Given the description of an element on the screen output the (x, y) to click on. 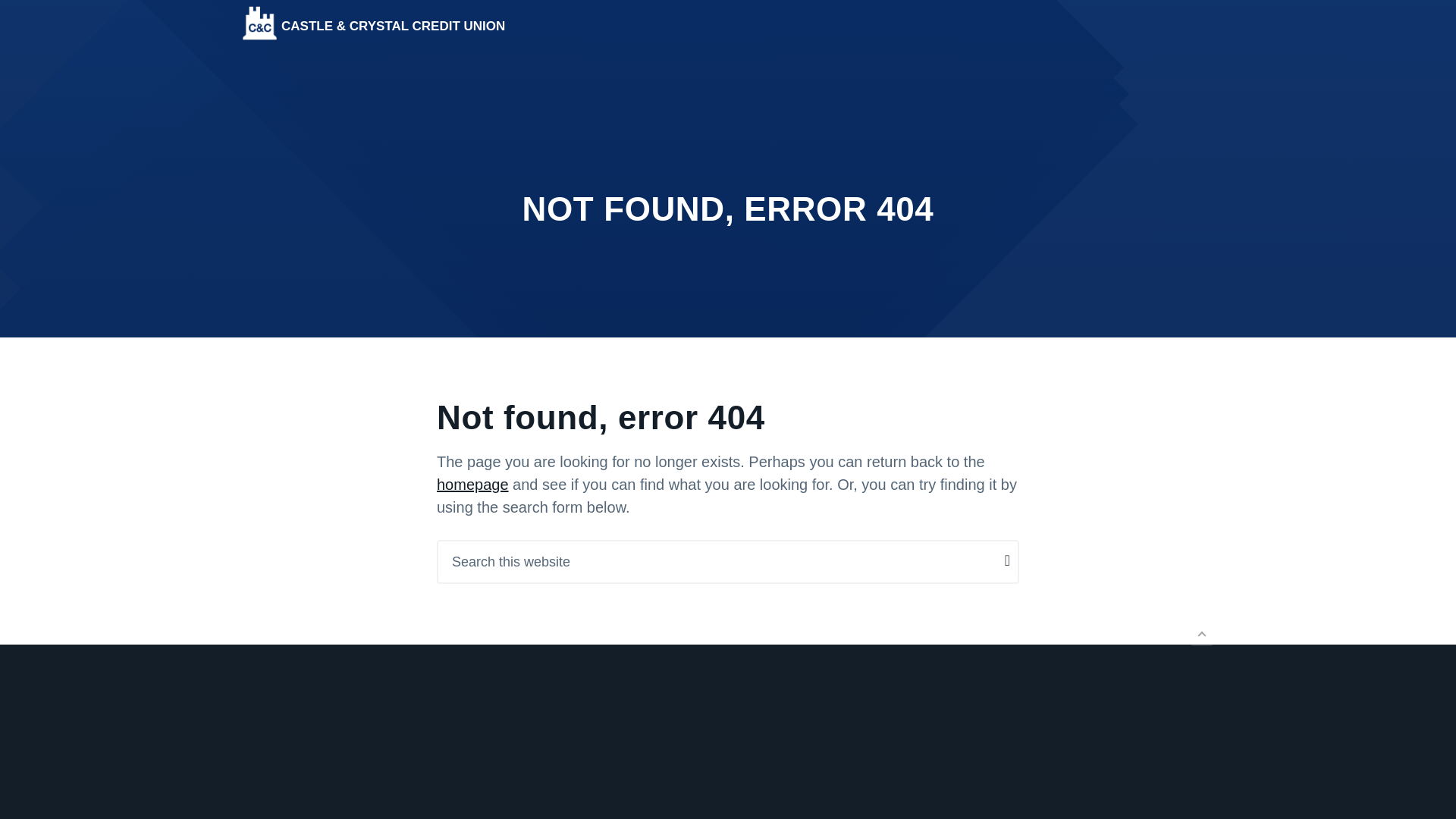
homepage (472, 484)
Search (44, 18)
